Given the description of an element on the screen output the (x, y) to click on. 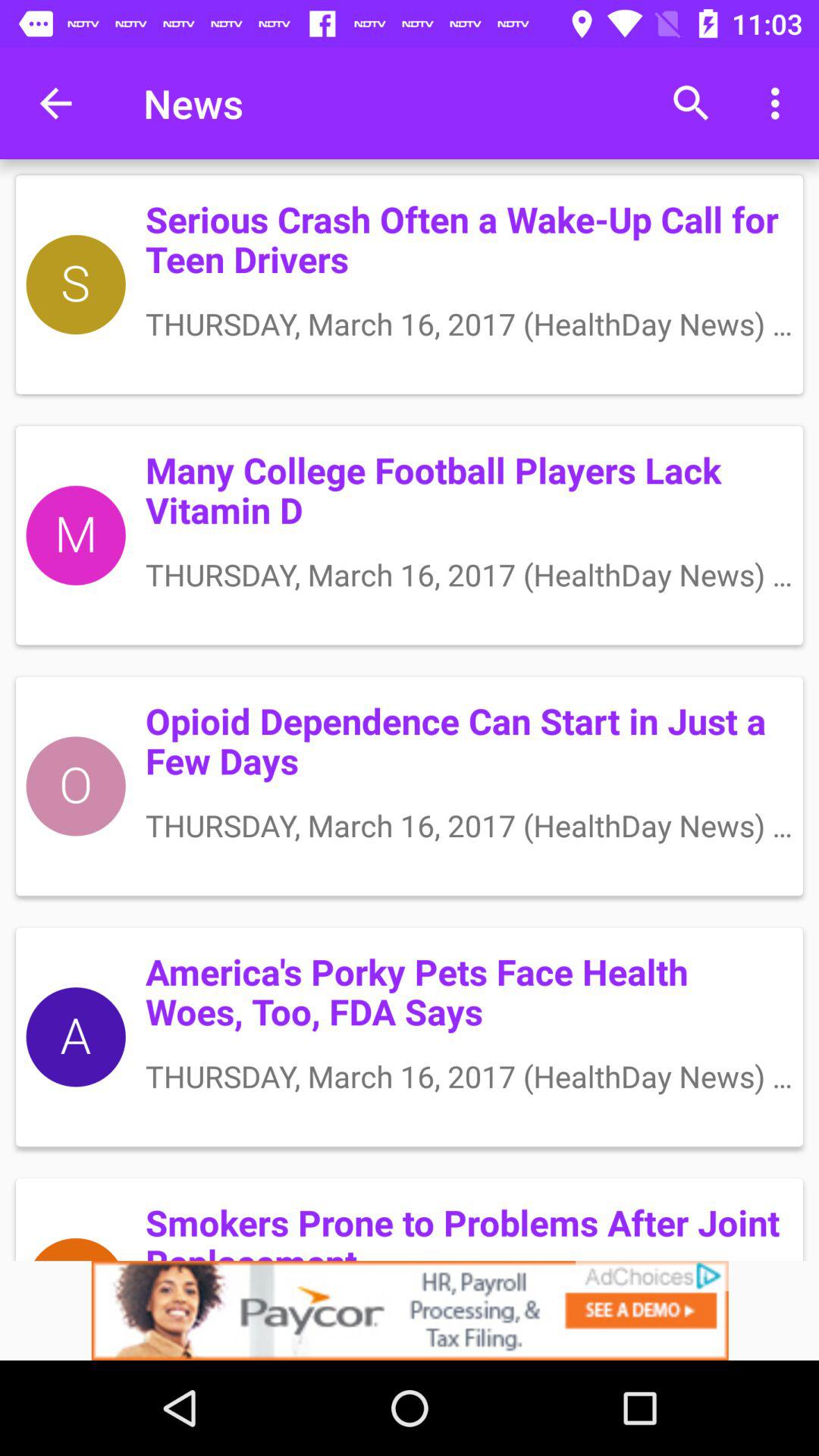
go to advertisement 's website (409, 1310)
